Given the description of an element on the screen output the (x, y) to click on. 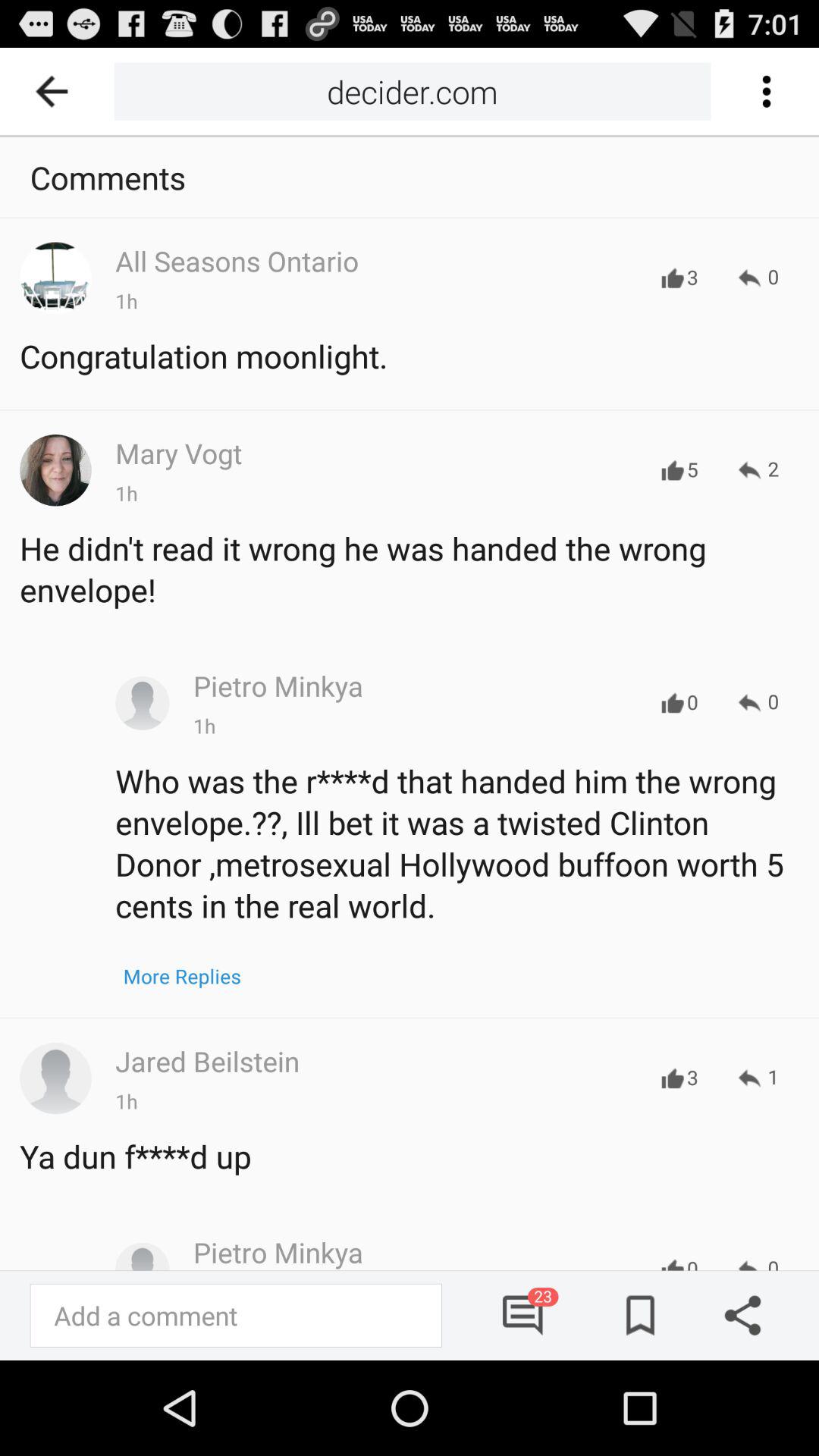
turn on item to the right of add a comment (523, 1315)
